Given the description of an element on the screen output the (x, y) to click on. 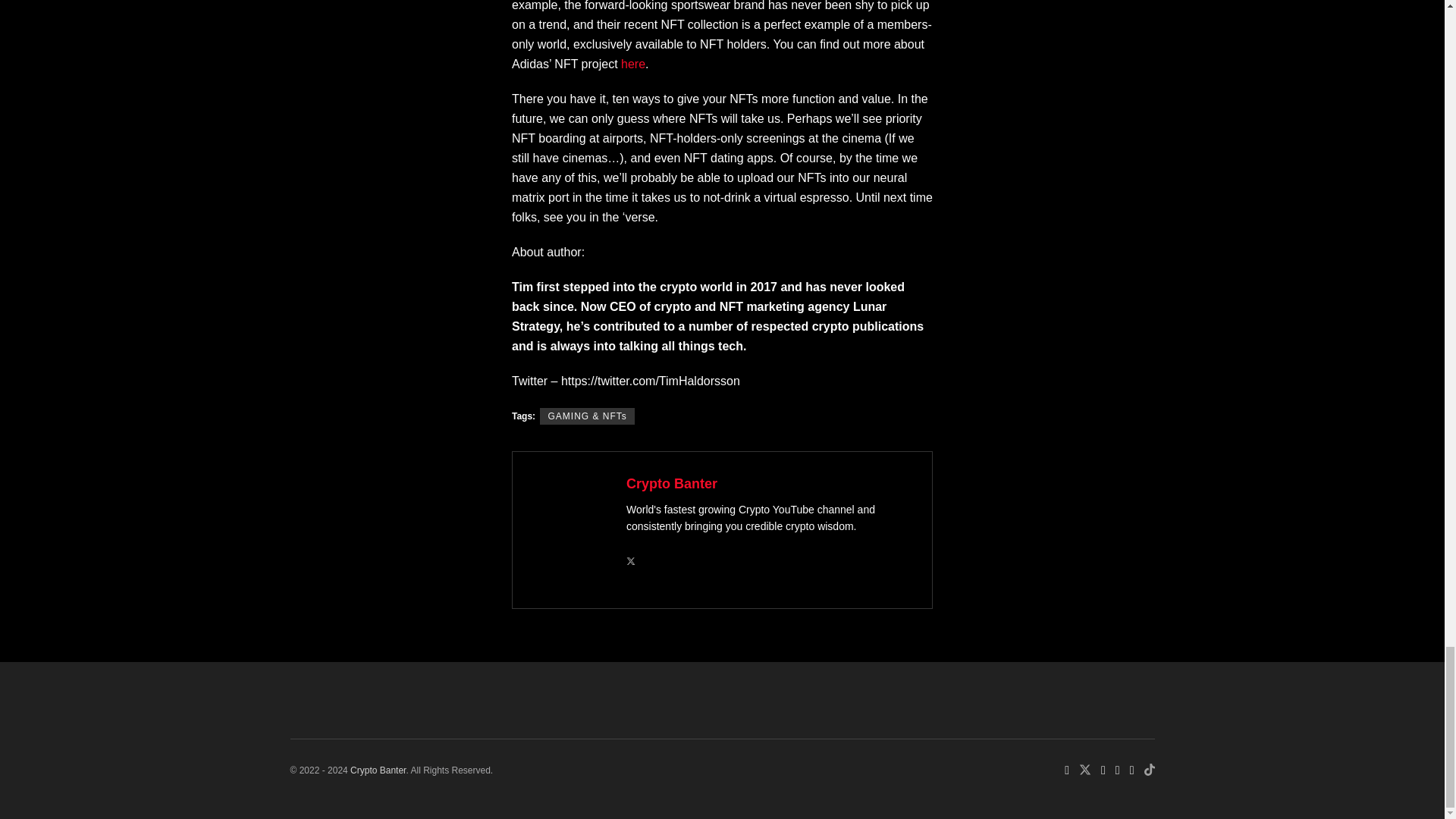
Crypto Banter (378, 769)
here (633, 63)
Crypto Banter (671, 483)
